Given the description of an element on the screen output the (x, y) to click on. 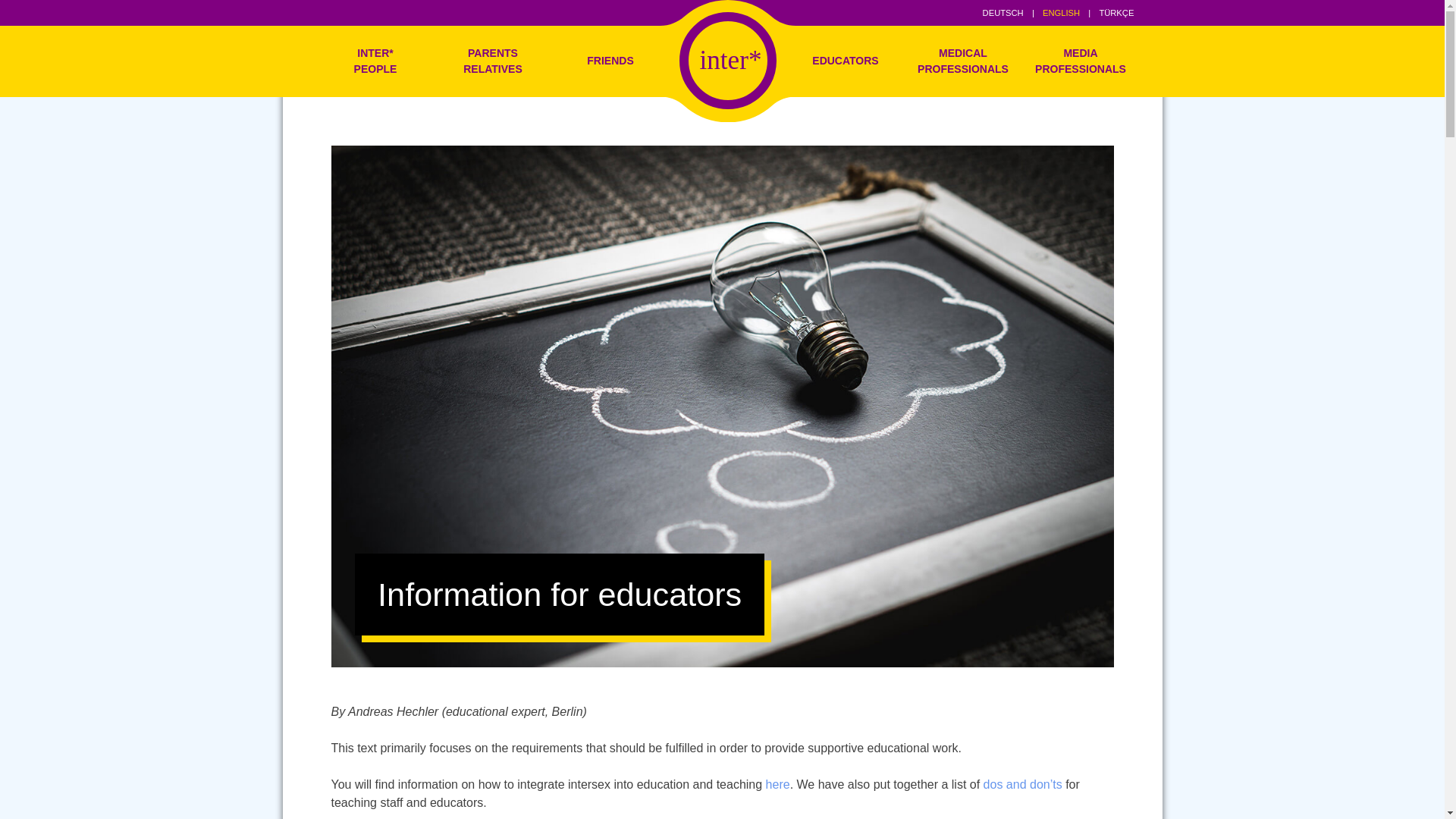
MEDIA PROFESSIONALS (1081, 61)
PARENTS RELATIVES (492, 61)
here (777, 784)
EDUCATORS (845, 60)
ENGLISH (1061, 12)
DEUTSCH (1002, 12)
MEDICAL PROFESSIONALS (963, 61)
FRIENDS (610, 60)
